Given the description of an element on the screen output the (x, y) to click on. 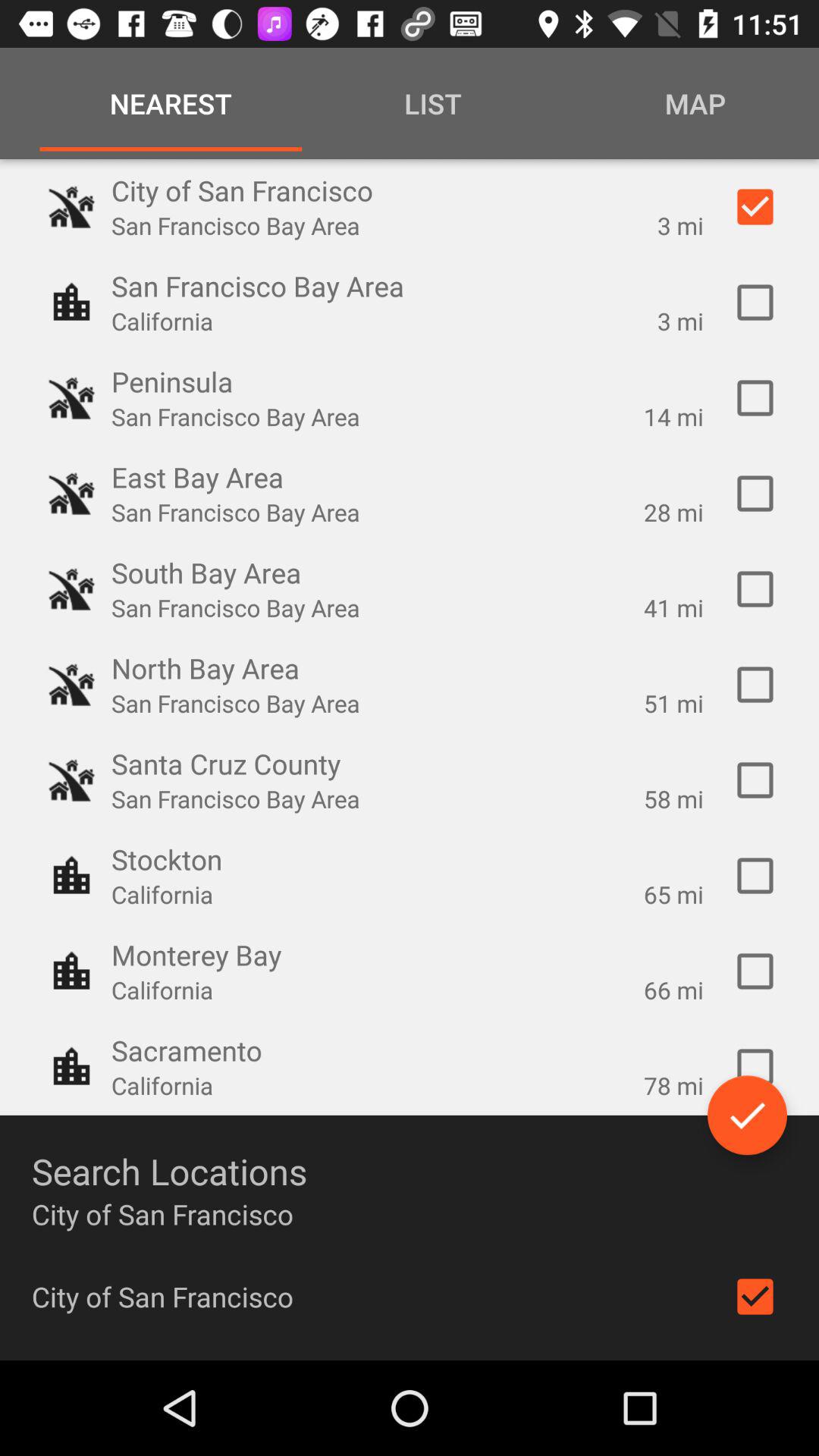
check or uncheck the city (755, 1296)
